Given the description of an element on the screen output the (x, y) to click on. 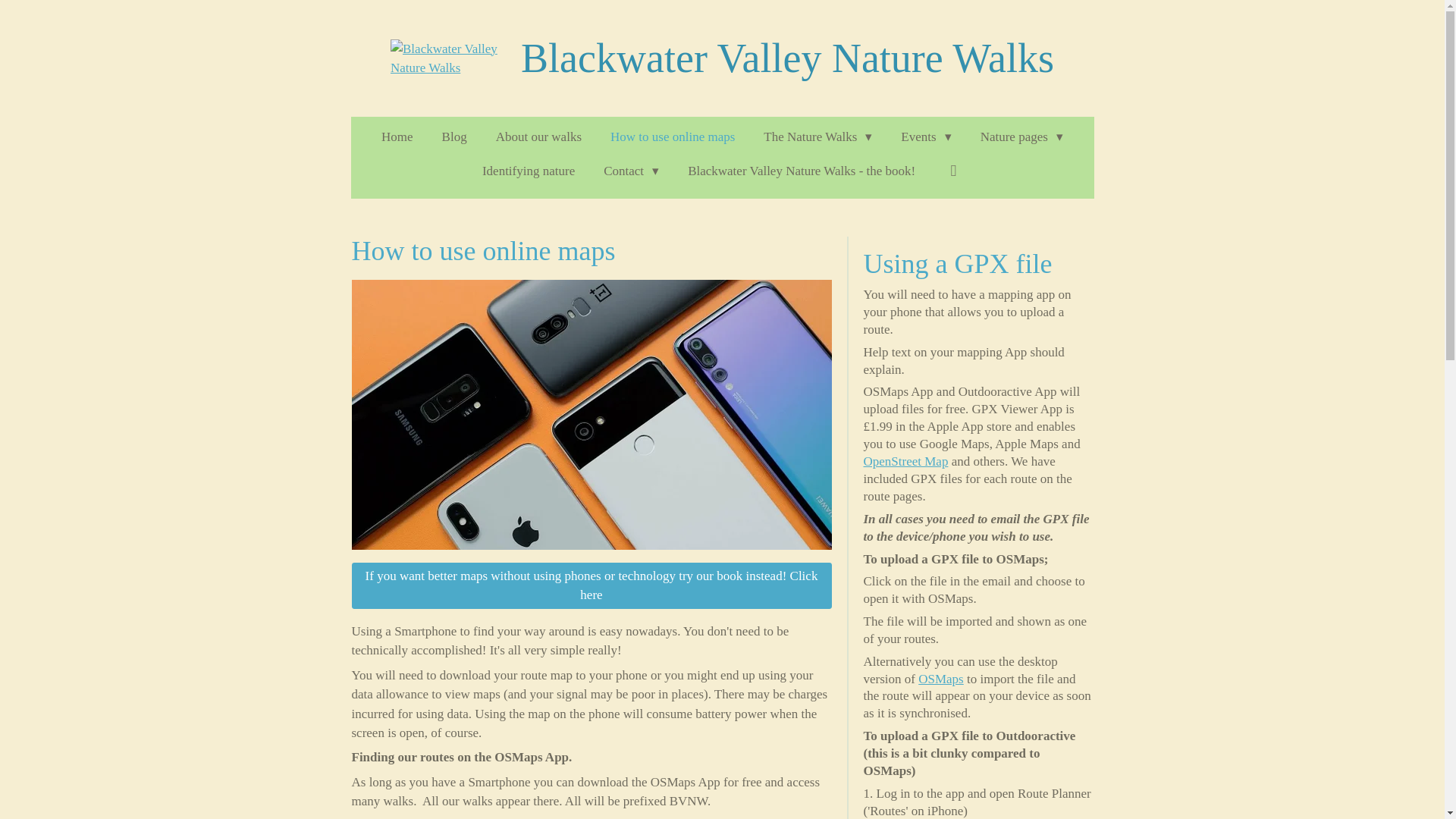
View cart (952, 171)
Blog (453, 135)
How to use online maps (672, 135)
OpenStreet Map (905, 461)
Identifying nature (528, 171)
Blackwater Valley Nature Walks - the book (591, 585)
The Nature Walks (817, 135)
Blackwater Valley Nature Walks - the book! (801, 171)
OSMaps (940, 678)
Contact (630, 171)
Blackwater Valley Nature Walks (447, 58)
Home (397, 135)
About our walks (538, 135)
Nature pages (1021, 135)
